Given the description of an element on the screen output the (x, y) to click on. 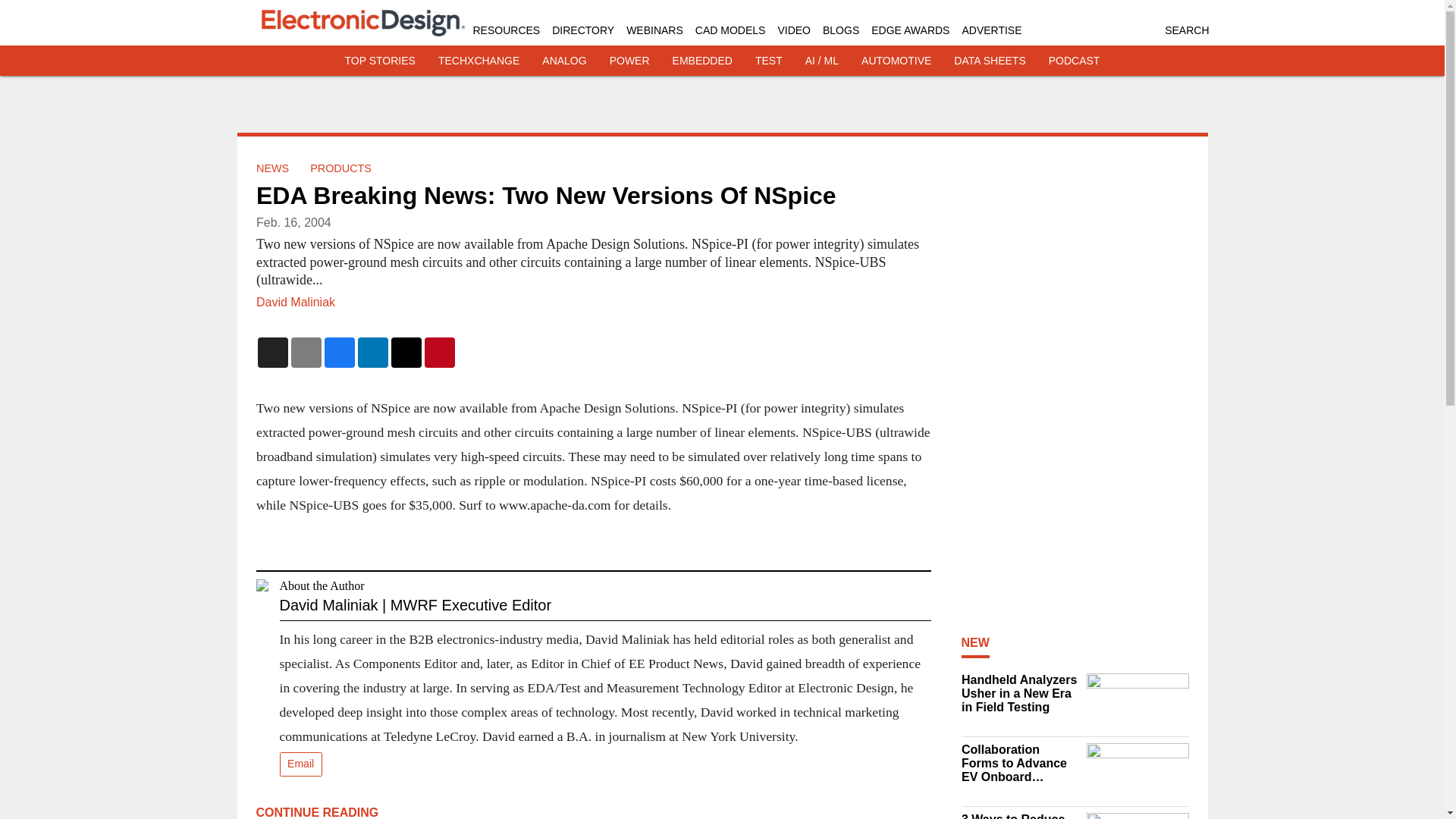
DATA SHEETS (989, 60)
TEST (769, 60)
ADVERTISE (991, 30)
PRODUCTS (340, 168)
CAD MODELS (730, 30)
AUTOMOTIVE (896, 60)
RESOURCES (506, 30)
POWER (629, 60)
ANALOG (563, 60)
Handheld Analyzers Usher in a New Era in Field Testing (1019, 693)
WEBINARS (654, 30)
EDGE AWARDS (909, 30)
David Maliniak (295, 301)
TOP STORIES (379, 60)
Collaboration Forms to Advance EV Onboard Charging (1019, 762)
